Given the description of an element on the screen output the (x, y) to click on. 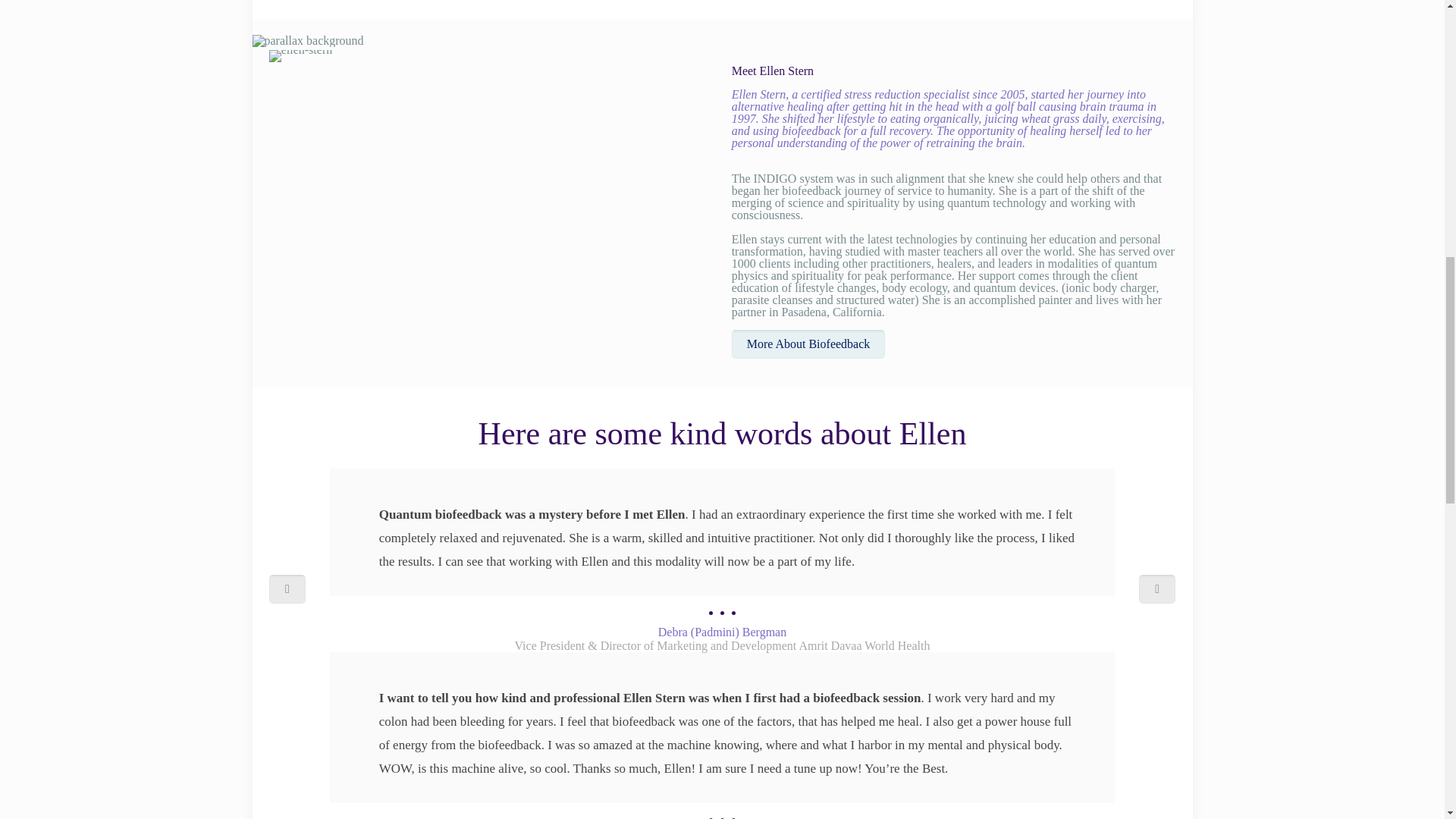
More About Biofeedback (808, 344)
